Given the description of an element on the screen output the (x, y) to click on. 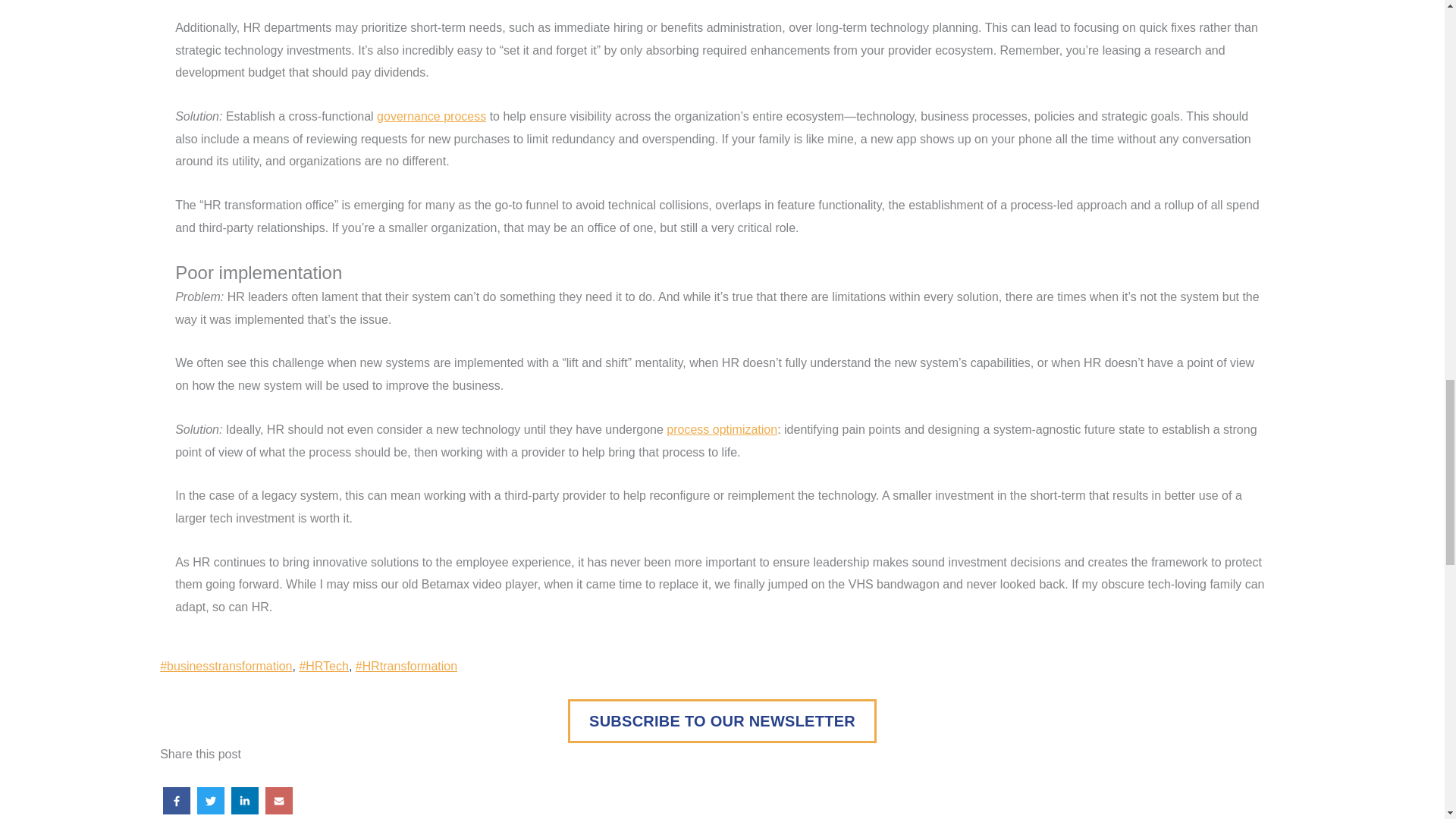
Facebook (176, 801)
Twitter (210, 801)
process optimization (721, 429)
LinkedIn (245, 801)
SUBSCRIBE TO OUR NEWSLETTER (721, 720)
Email (279, 801)
governance process (431, 115)
